Given the description of an element on the screen output the (x, y) to click on. 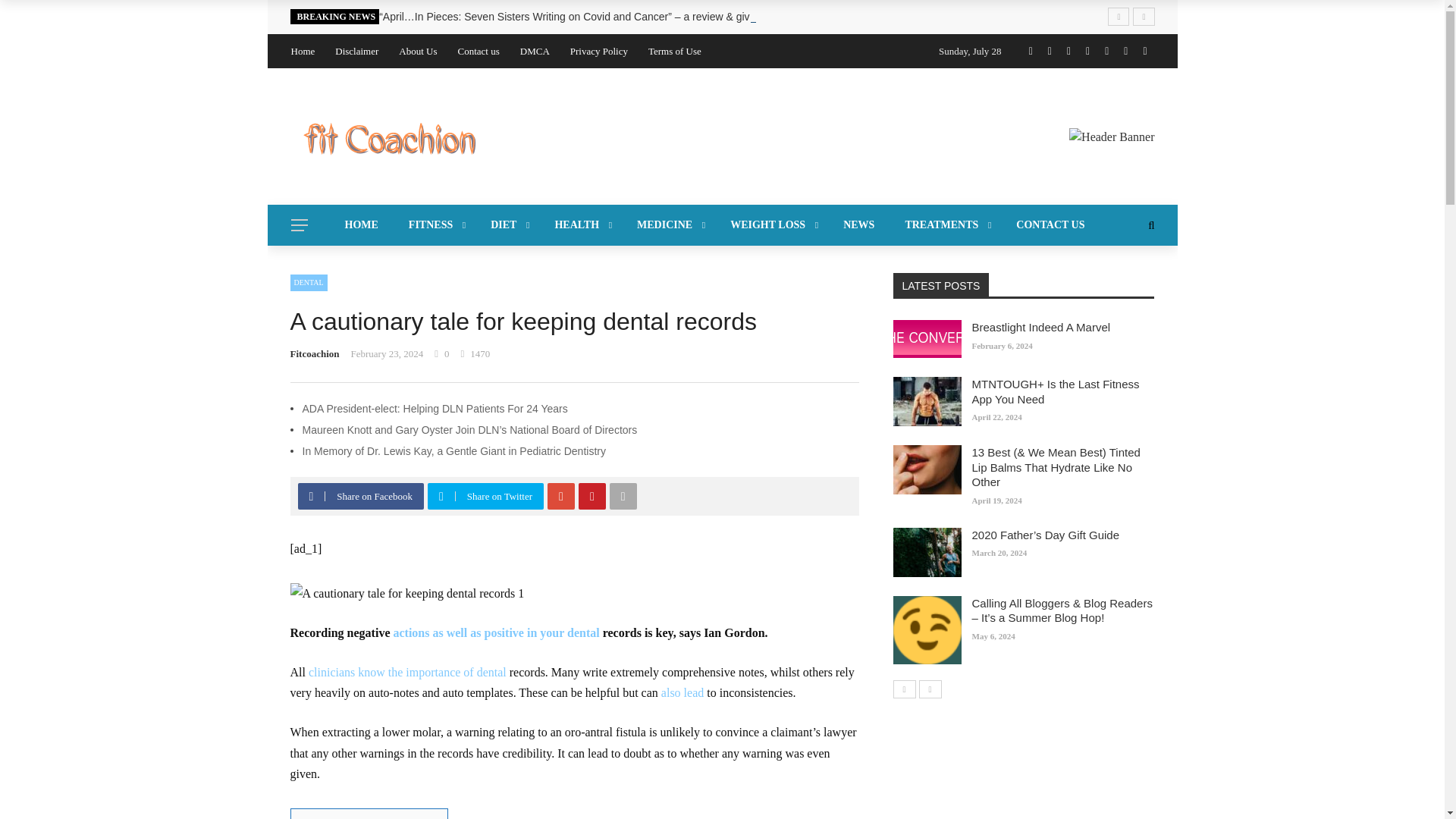
Disclaimer (356, 50)
About Us (417, 50)
A cautionary tale for keeping dental records 1 (406, 593)
Privacy Policy (598, 50)
Terms of Use (674, 50)
DMCA (534, 50)
Contact us (478, 50)
Home (303, 50)
